Given the description of an element on the screen output the (x, y) to click on. 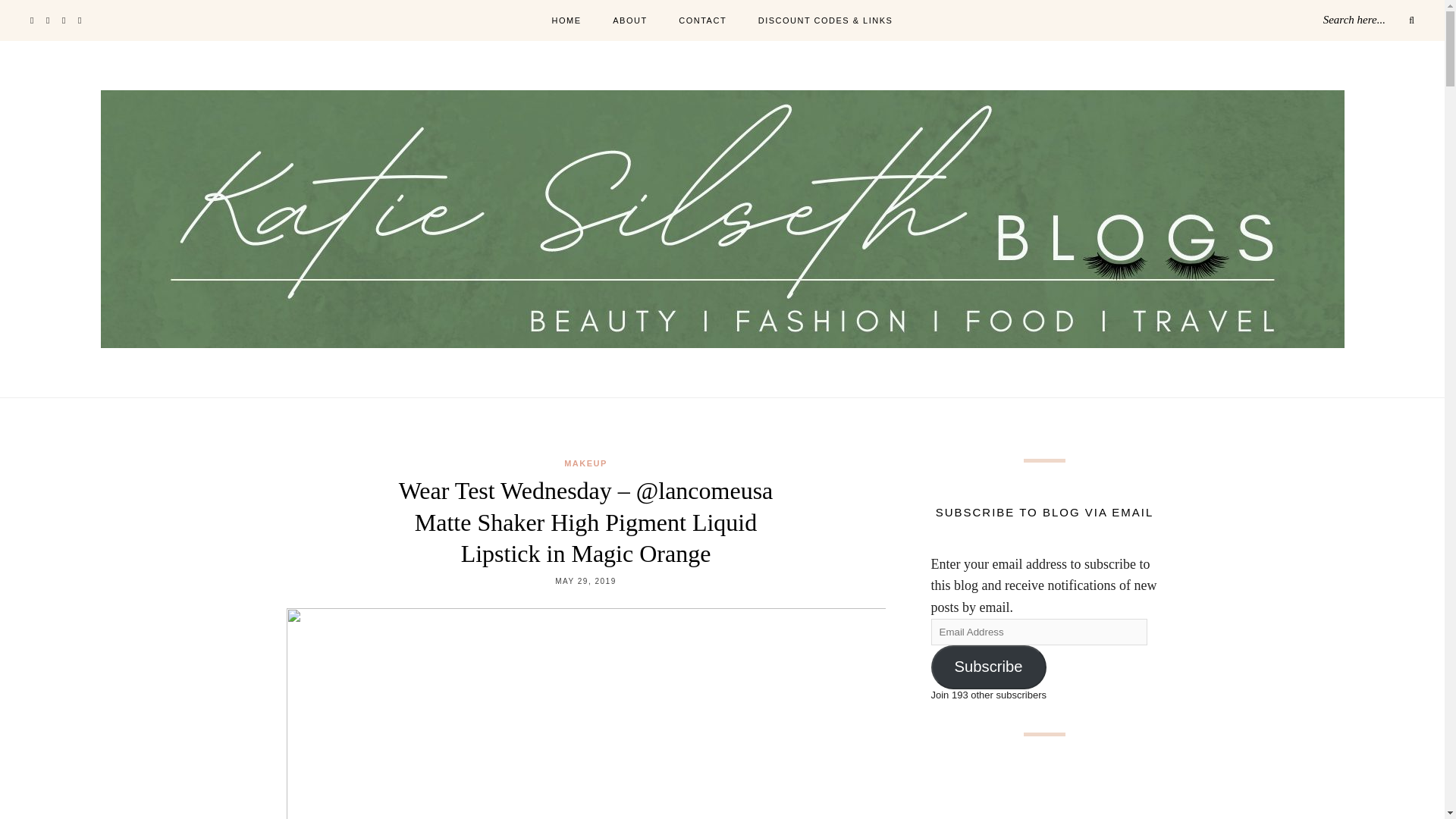
Subscribe (988, 667)
CONTACT (702, 20)
MAKEUP (585, 462)
MAY 29, 2019 (584, 581)
